Given the description of an element on the screen output the (x, y) to click on. 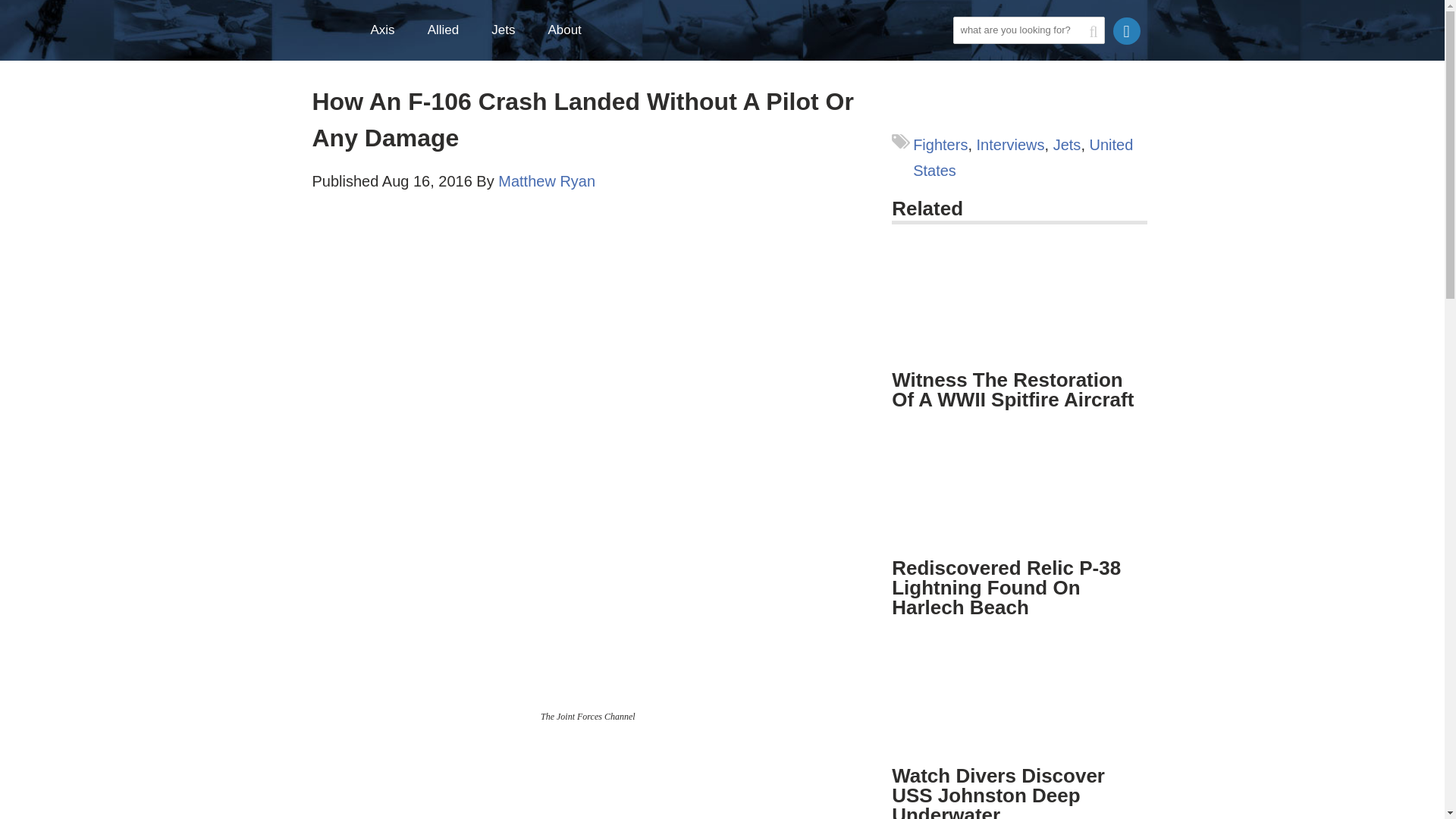
Allied (449, 29)
Watch Divers Discover USS Johnston Deep Underwater (1019, 699)
Rediscovered Relic P-38 Lightning Found on Harlech Beach (1019, 500)
Watch Divers Discover USS Johnston Deep Underwater (1019, 726)
Watch Divers Discover USS Johnston Deep Underwater (998, 791)
Search (967, 56)
Search (967, 56)
Search for: (1027, 30)
Witness the Restoration of a WWII Spitfire Aircraft (1012, 389)
Witness the Restoration of a WWII Spitfire Aircraft (1019, 302)
Witness the Restoration of a WWII Spitfire Aircraft (1019, 310)
Rediscovered Relic P-38 Lightning Found on Harlech Beach (1006, 587)
Axis (389, 29)
Rediscovered Relic P-38 Lightning Found on Harlech Beach (1019, 490)
Jets (509, 29)
